Given the description of an element on the screen output the (x, y) to click on. 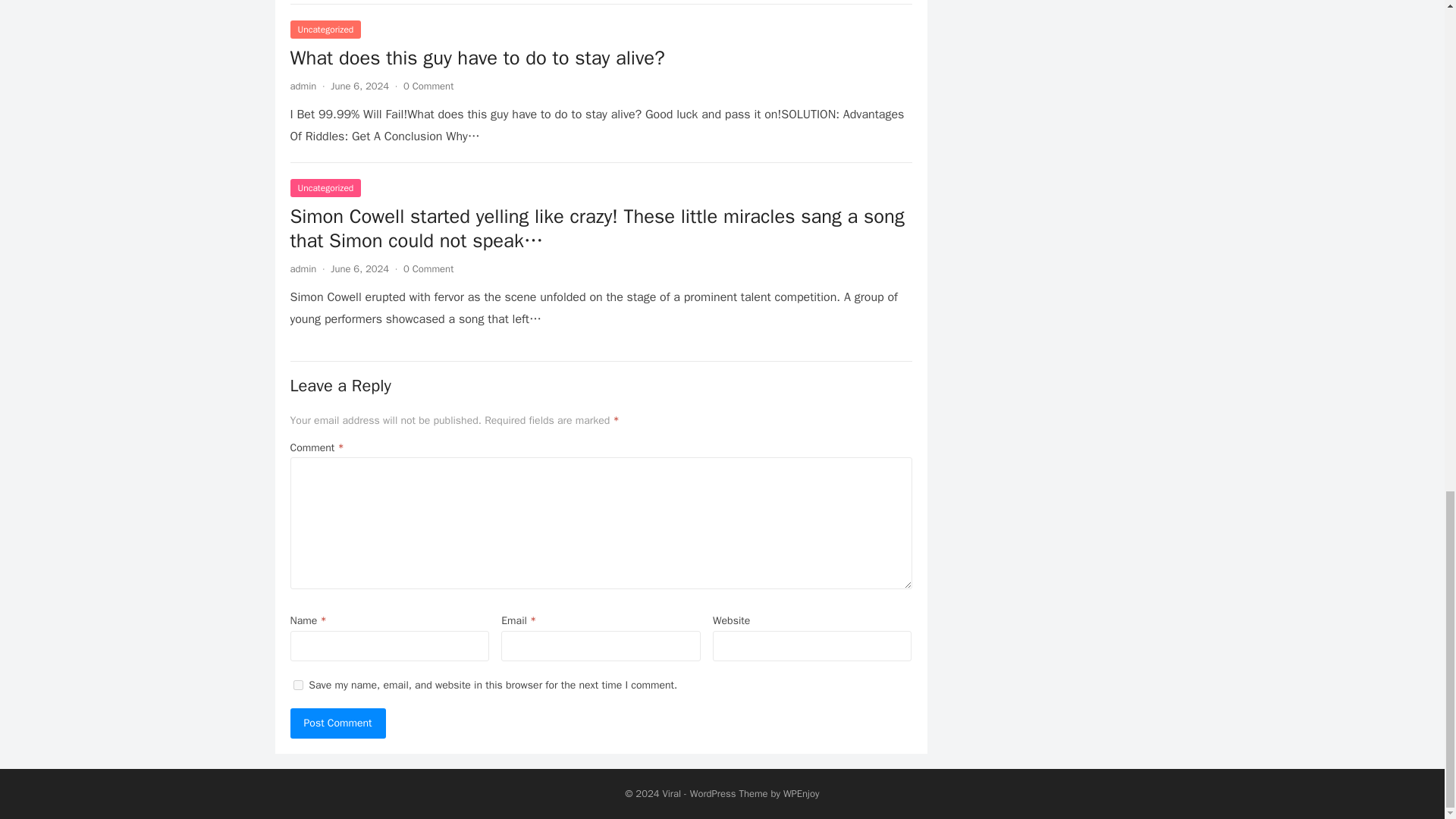
Uncategorized (325, 29)
Posts by admin (302, 268)
0 Comment (427, 268)
Post Comment (337, 723)
Posts by admin (302, 85)
What does this guy have to do to stay alive? (476, 57)
Uncategorized (325, 188)
yes (297, 685)
admin (302, 85)
0 Comment (427, 85)
